Given the description of an element on the screen output the (x, y) to click on. 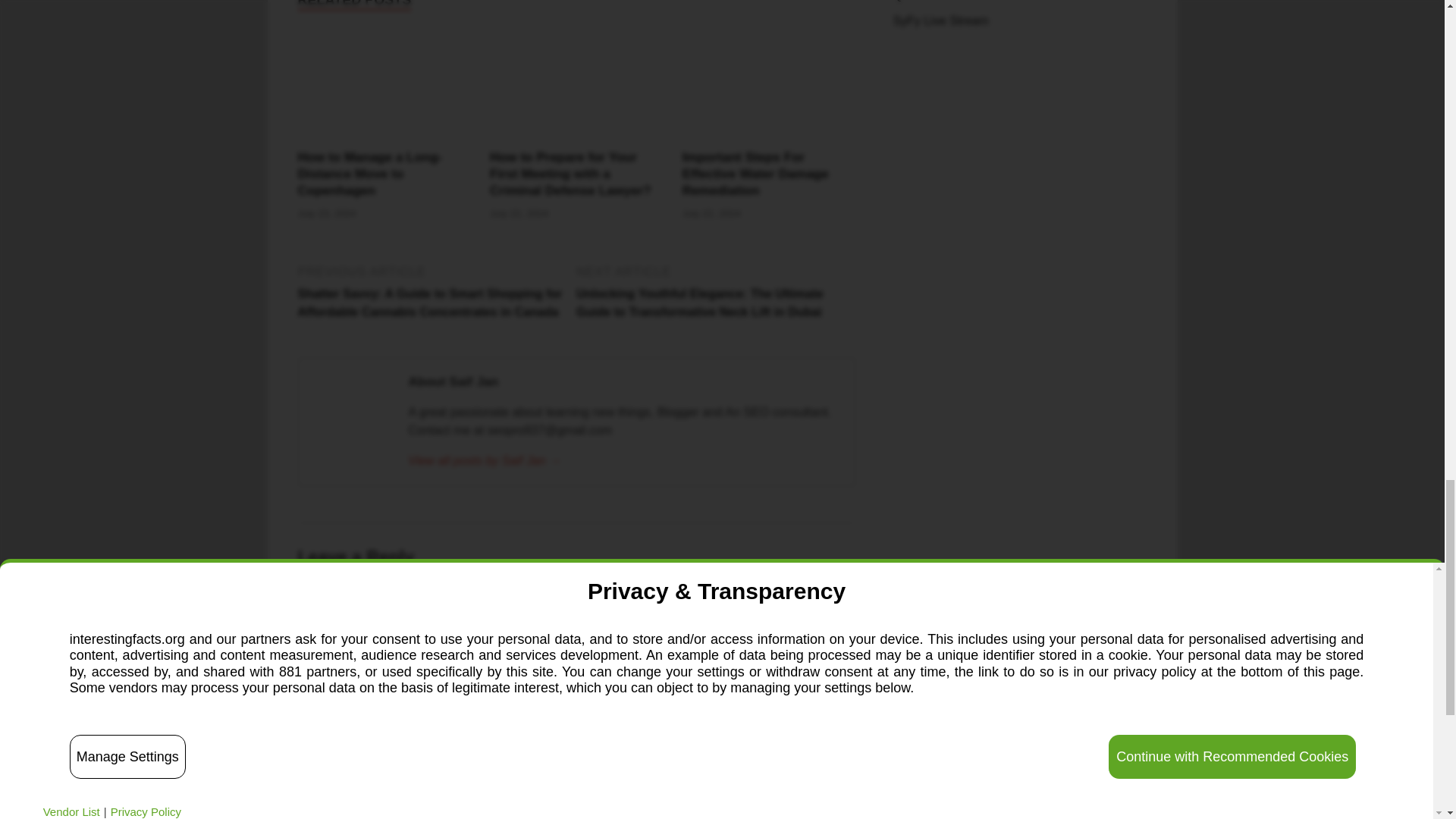
Important Steps For Effective Water Damage Remediation (755, 173)
Important Steps For Effective Water Damage Remediation (769, 139)
Important Steps For Effective Water Damage Remediation (755, 173)
How to Manage a Long-Distance Move to Copenhagen (369, 173)
How to Manage a Long-Distance Move to Copenhagen (383, 139)
Saif Jan (622, 461)
How to Manage a Long-Distance Move to Copenhagen (369, 173)
